Given the description of an element on the screen output the (x, y) to click on. 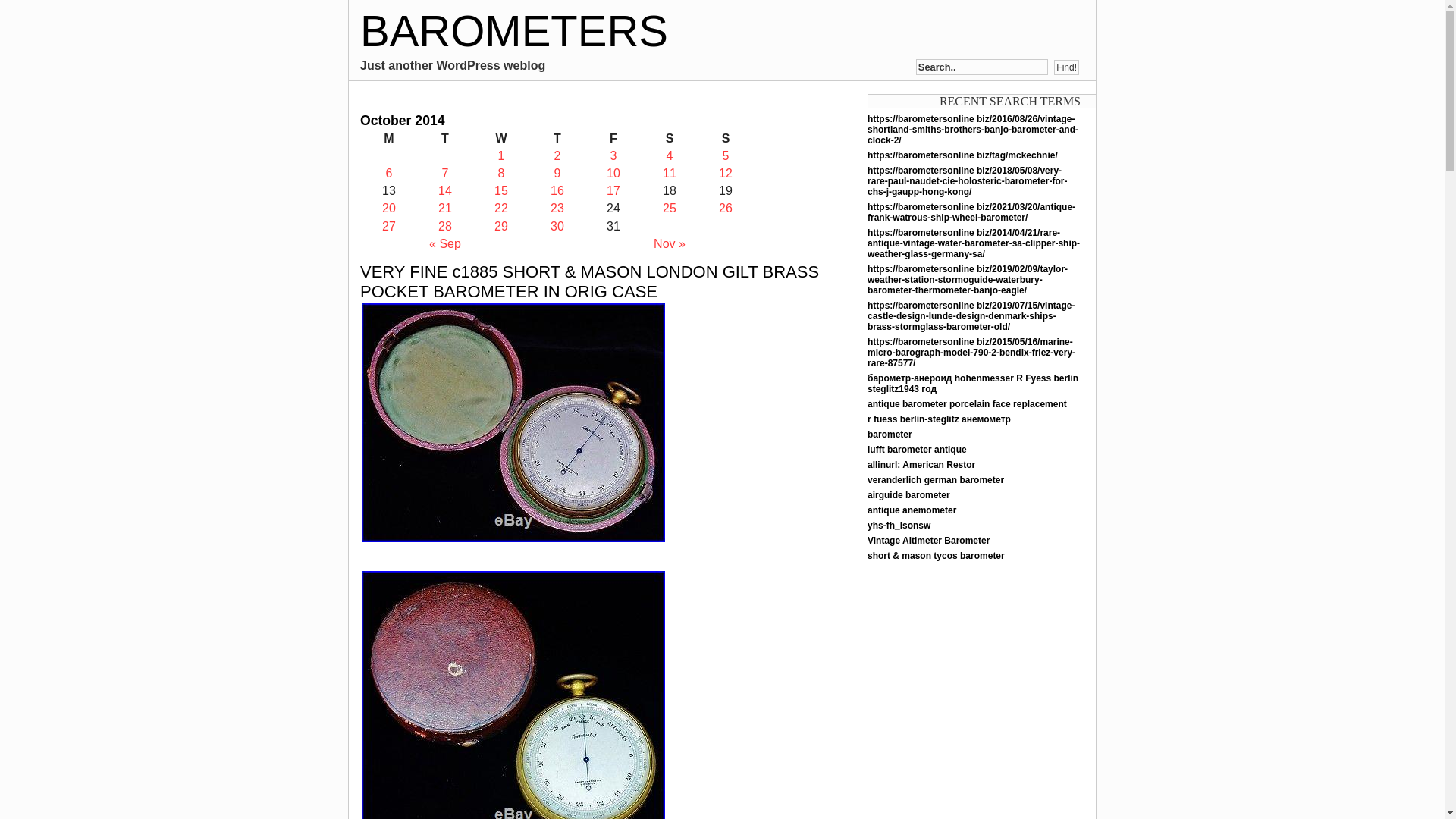
16 (557, 190)
20 (388, 207)
10 (613, 173)
21 (444, 207)
Search.. (981, 66)
Search.. (981, 66)
28 (444, 226)
Find! (1066, 67)
26 (725, 207)
25 (669, 207)
11 (669, 173)
15 (501, 190)
27 (388, 226)
12 (725, 173)
29 (501, 226)
